Given the description of an element on the screen output the (x, y) to click on. 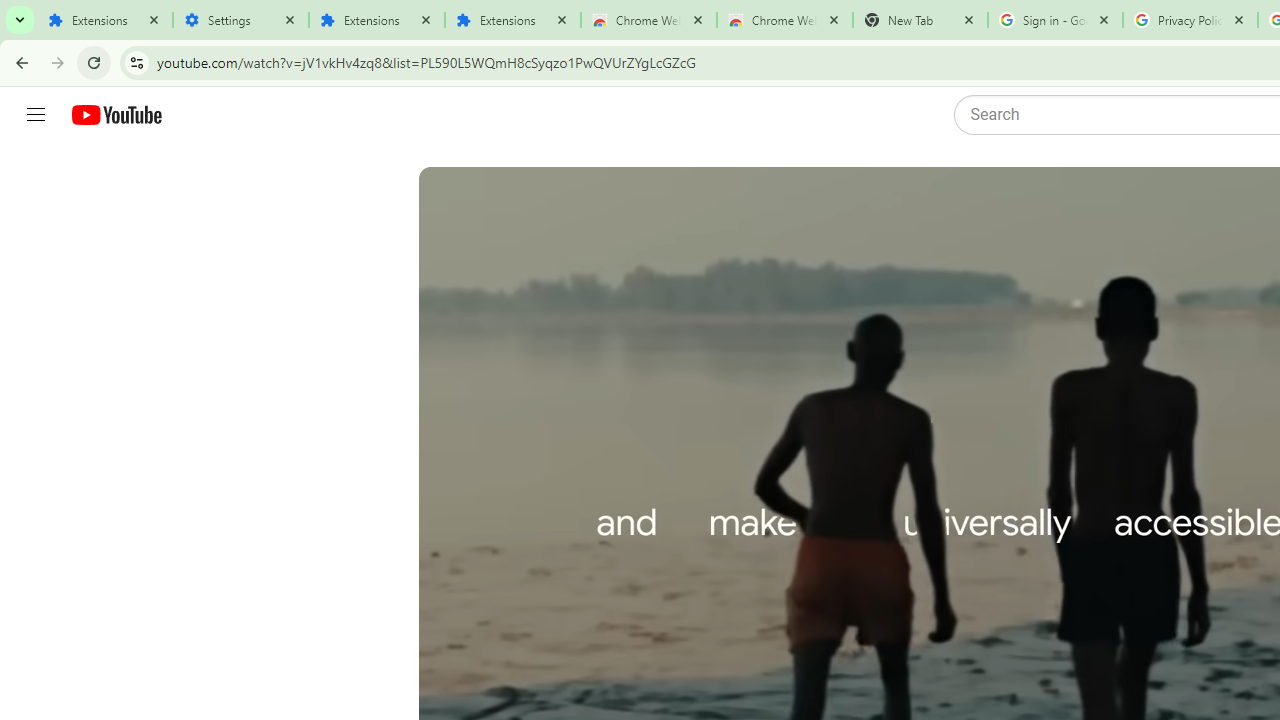
Chrome Web Store (648, 20)
Extensions (513, 20)
Extensions (376, 20)
Extensions (104, 20)
Chrome Web Store - Themes (784, 20)
New Tab (920, 20)
Guide (35, 115)
Settings (240, 20)
Sign in - Google Accounts (1055, 20)
